Given the description of an element on the screen output the (x, y) to click on. 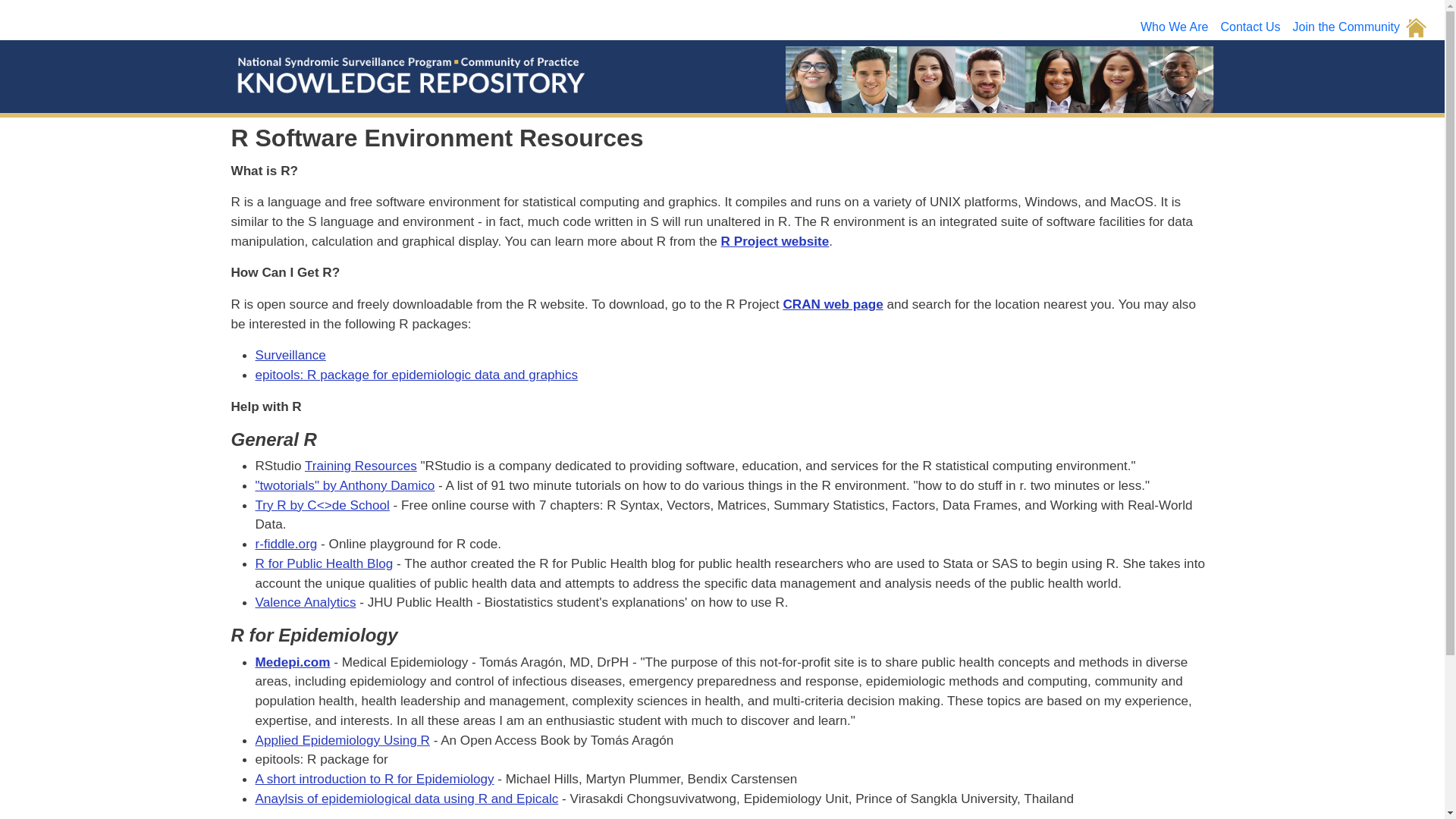
CRAN web page (832, 304)
Contact Us (1249, 27)
Valence Analytics (304, 601)
Training Resources (360, 465)
Applied Epidemiology Using R (341, 739)
Surveillance (289, 354)
"twotorials" by Anthony Damico (343, 485)
R Project website (774, 240)
r-fiddle.org (285, 543)
Anaylsis of epidemiological data using R and Epicalc (405, 798)
R for Public Health Blog (323, 563)
A short introduction to R for Epidemiology (373, 778)
Who We Are (1174, 27)
Medepi.com (292, 661)
Join the Community (1346, 27)
